Given the description of an element on the screen output the (x, y) to click on. 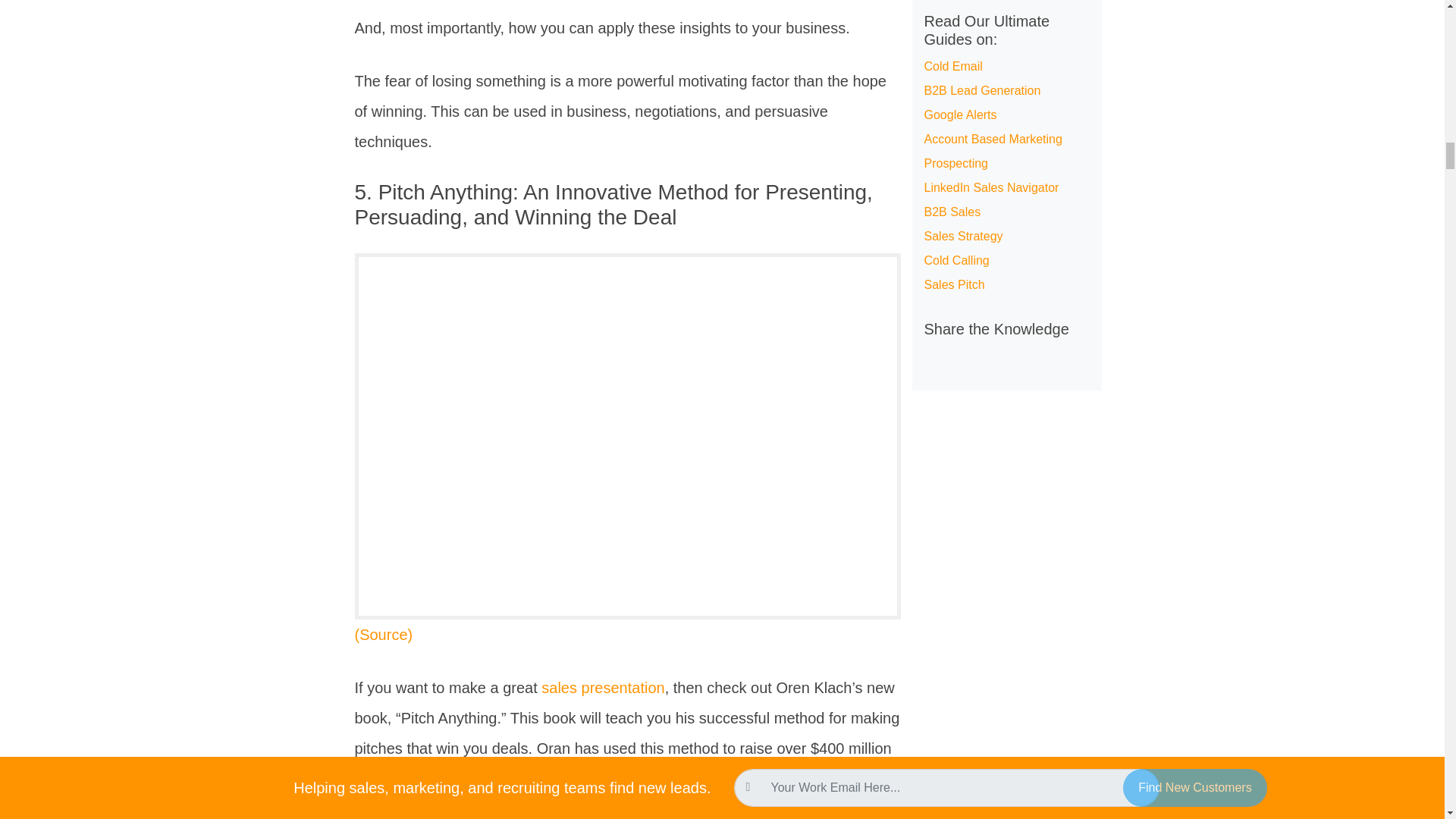
sales presentation (602, 687)
Sales Presentation (602, 687)
